Given the description of an element on the screen output the (x, y) to click on. 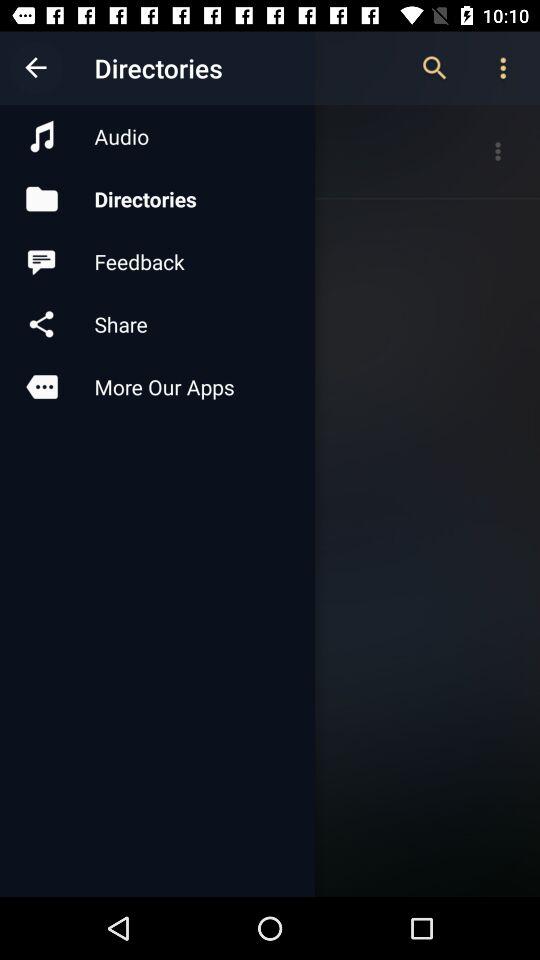
click item next to the directories (36, 68)
